Given the description of an element on the screen output the (x, y) to click on. 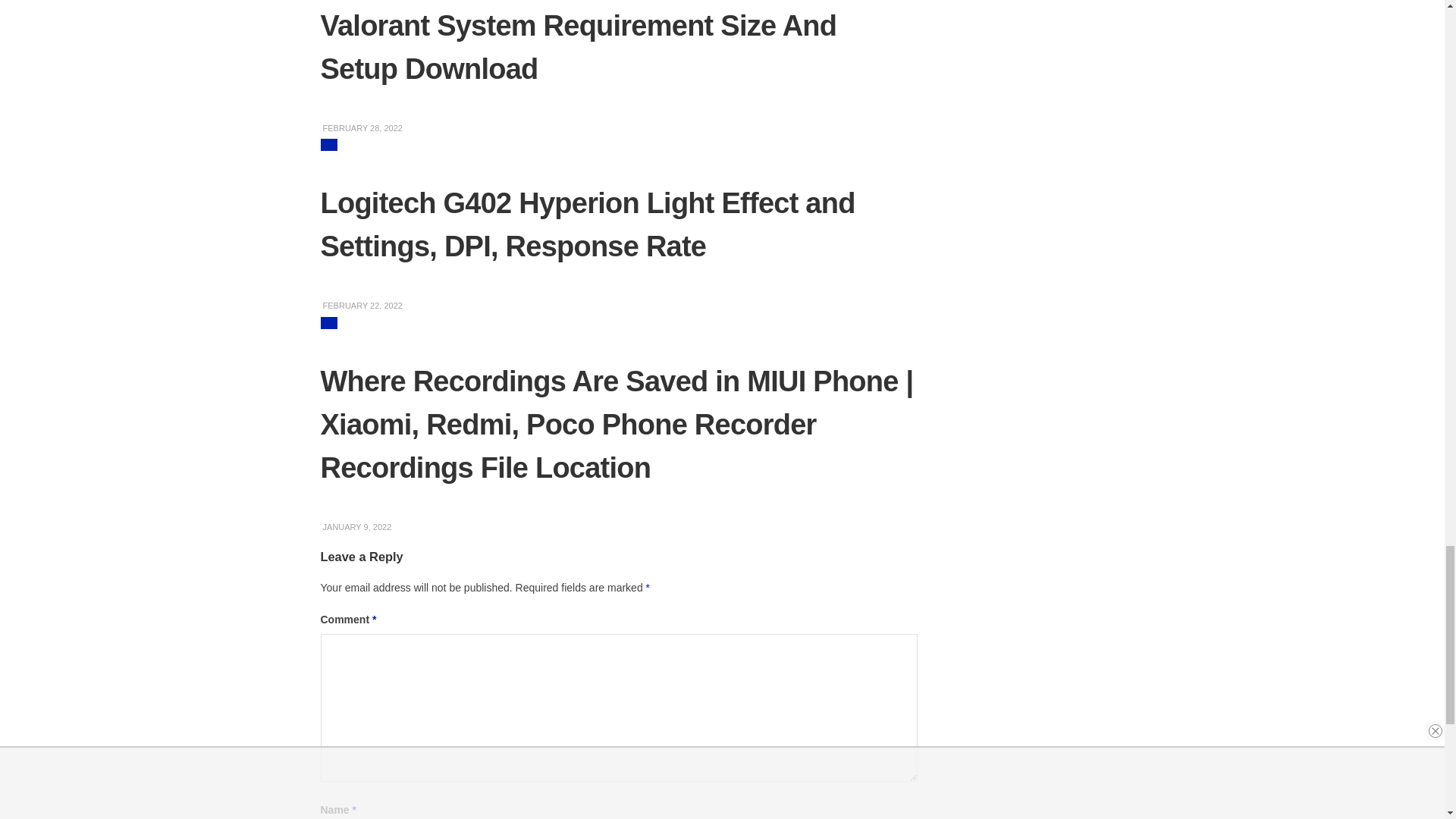
FEBRUARY 28, 2022 (360, 127)
JANUARY 9, 2022 (355, 526)
FEBRUARY 22, 2022 (360, 305)
info (328, 322)
Valorant System Requirement Size And Setup Download (577, 47)
info (328, 144)
